Given the description of an element on the screen output the (x, y) to click on. 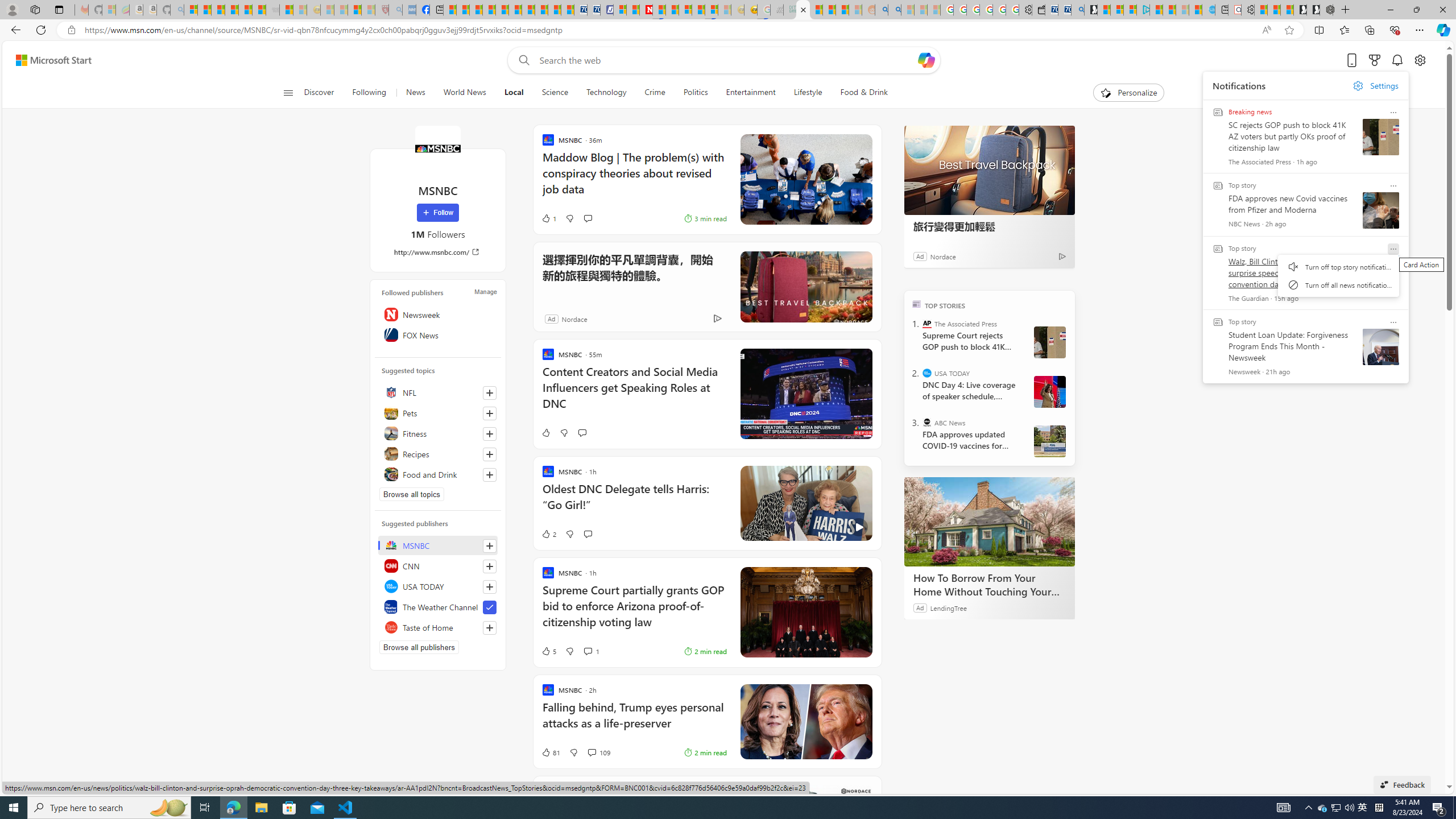
MSNBC (437, 148)
FOX News (437, 334)
NFL (437, 392)
